Given the description of an element on the screen output the (x, y) to click on. 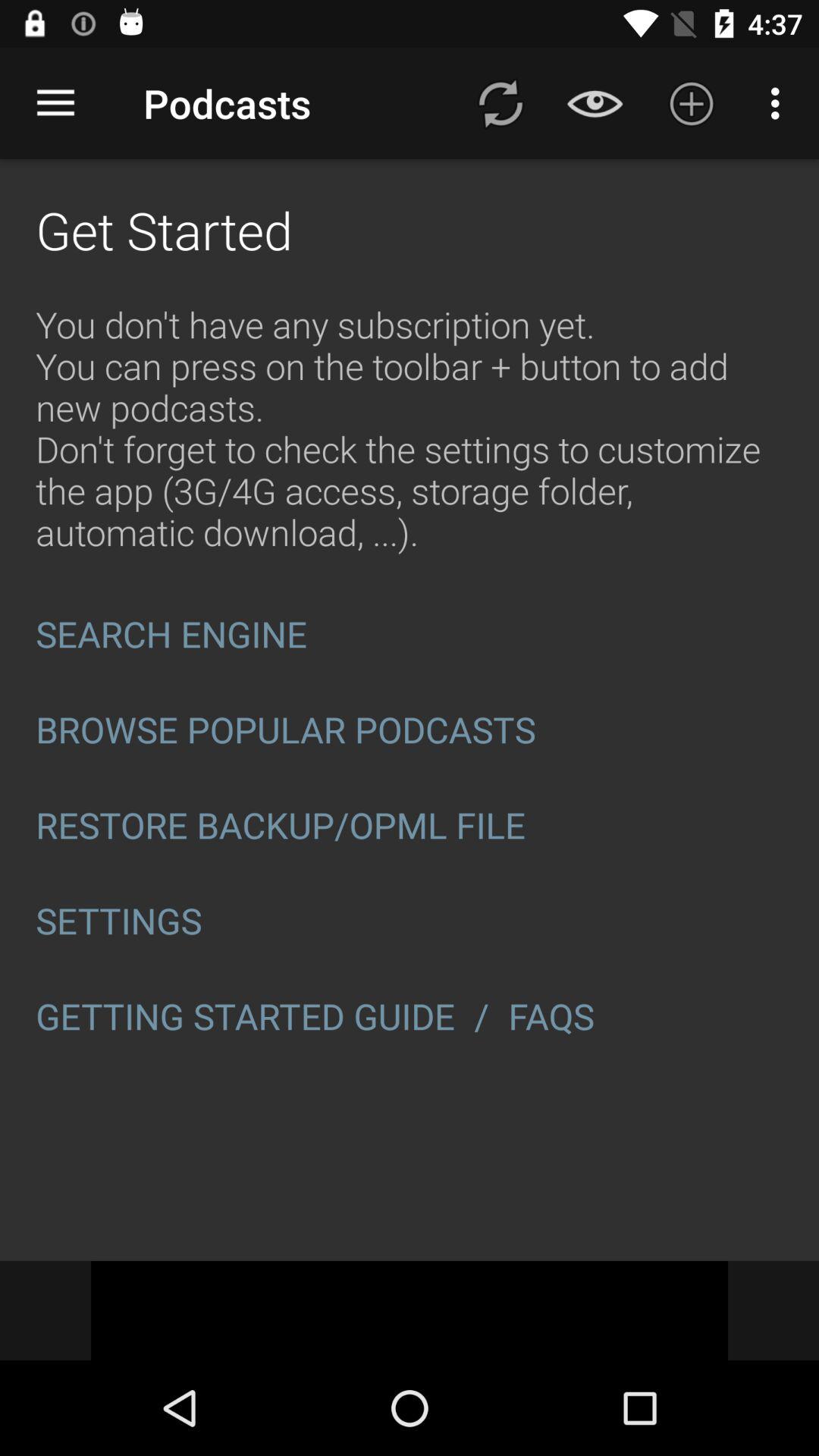
open the restore backup opml icon (409, 825)
